Given the description of an element on the screen output the (x, y) to click on. 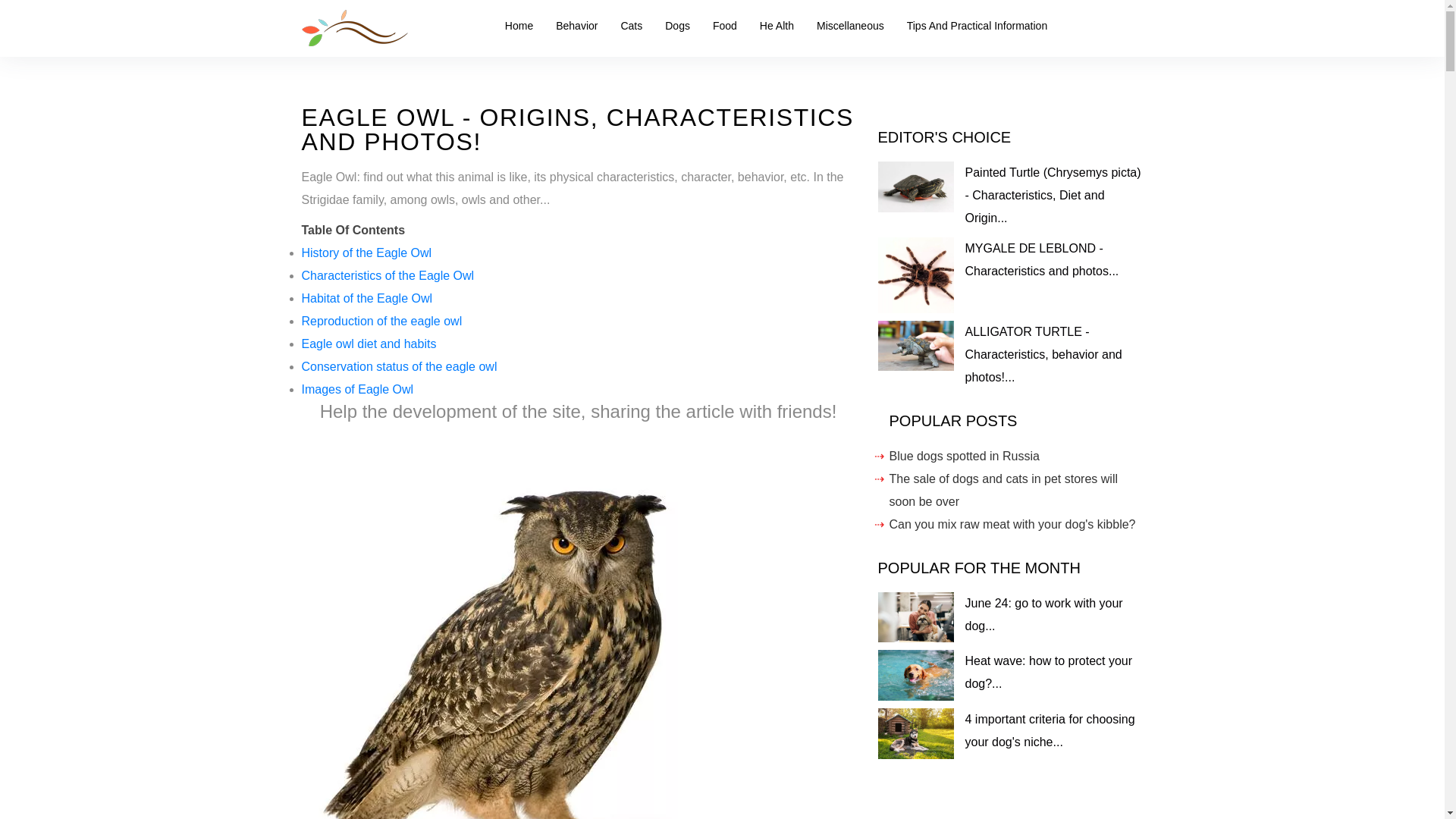
Tips And Practical Information (976, 25)
Blue dogs spotted in Russia (963, 455)
Can you mix raw meat with your dog's kibble? (1011, 523)
Food (724, 25)
Characteristics of the Eagle Owl (387, 275)
History of the Eagle Owl (366, 252)
MYGALE DE LEBLOND - Characteristics and photos... (1040, 259)
He alth (776, 25)
Eagle owl diet and habits (368, 343)
Miscellaneous (850, 25)
Conservation status of the eagle owl (399, 366)
The sale of dogs and cats in pet stores will soon be over (1003, 489)
Behavior (576, 25)
Habitat of the Eagle Owl (366, 297)
Home (518, 25)
